Given the description of an element on the screen output the (x, y) to click on. 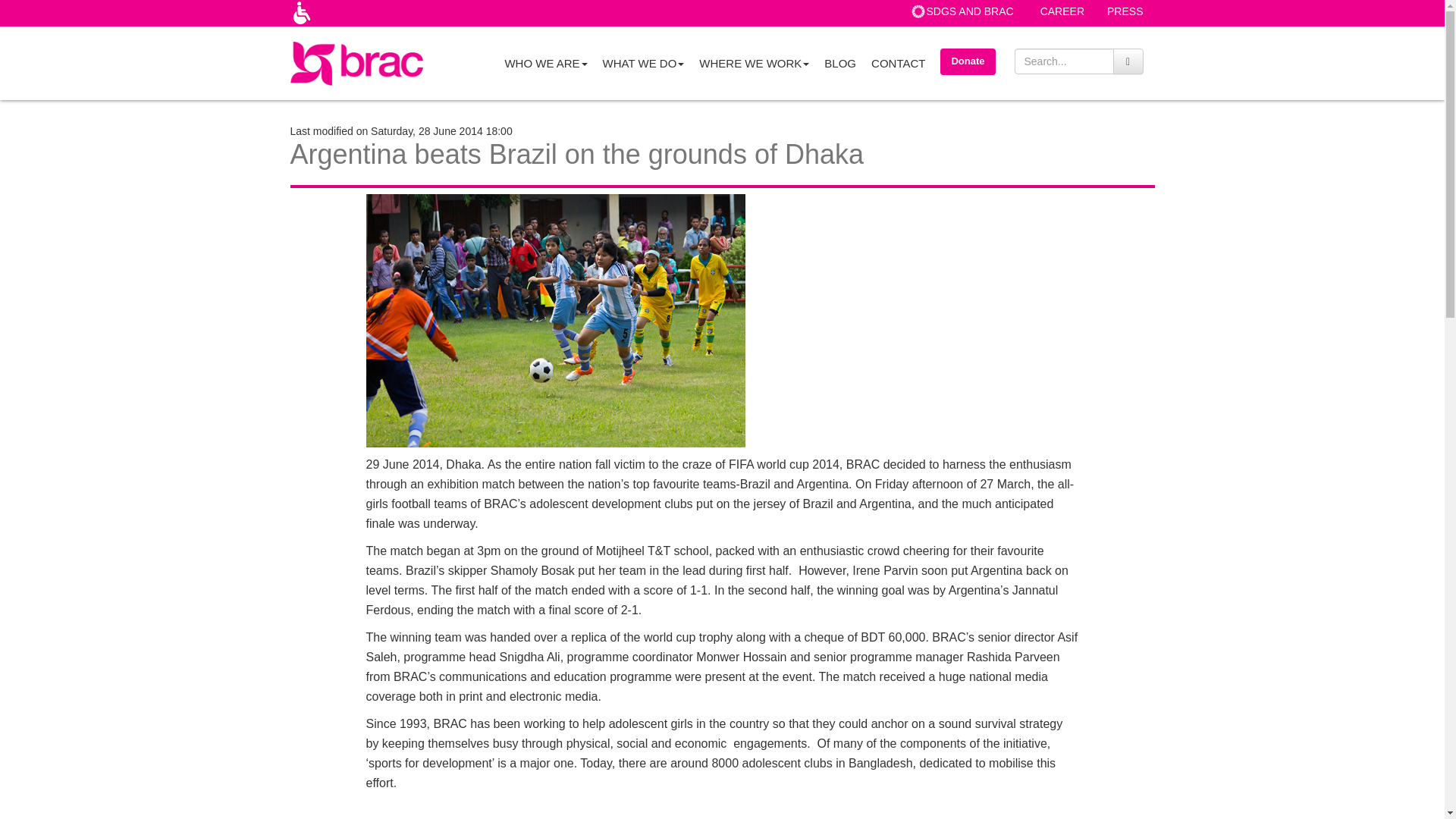
Donate (967, 61)
SDGS AND BRAC (970, 11)
WHO WE ARE (545, 63)
CAREER (1062, 11)
PRESS (1125, 11)
WHAT WE DO (644, 63)
WHERE WE WORK (753, 63)
